Given the description of an element on the screen output the (x, y) to click on. 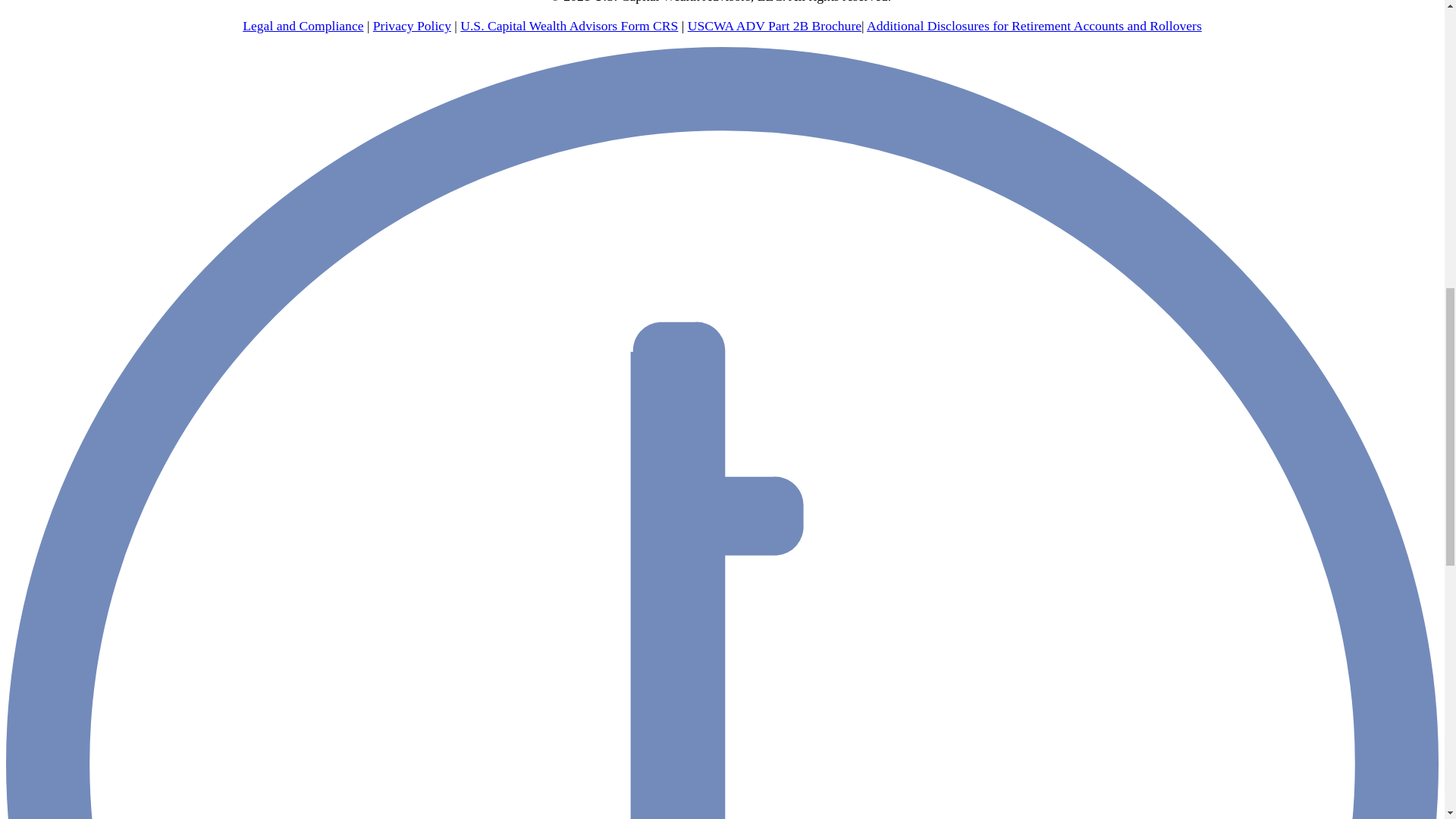
Legal and Compliance (302, 25)
Privacy Policy (411, 25)
Additional Disclosures for Retirement Accounts and Rollovers (1034, 25)
USCWA ADV Part 2B Brochure (774, 25)
U.S. Capital Wealth Advisors Form CRS (569, 25)
